Given the description of an element on the screen output the (x, y) to click on. 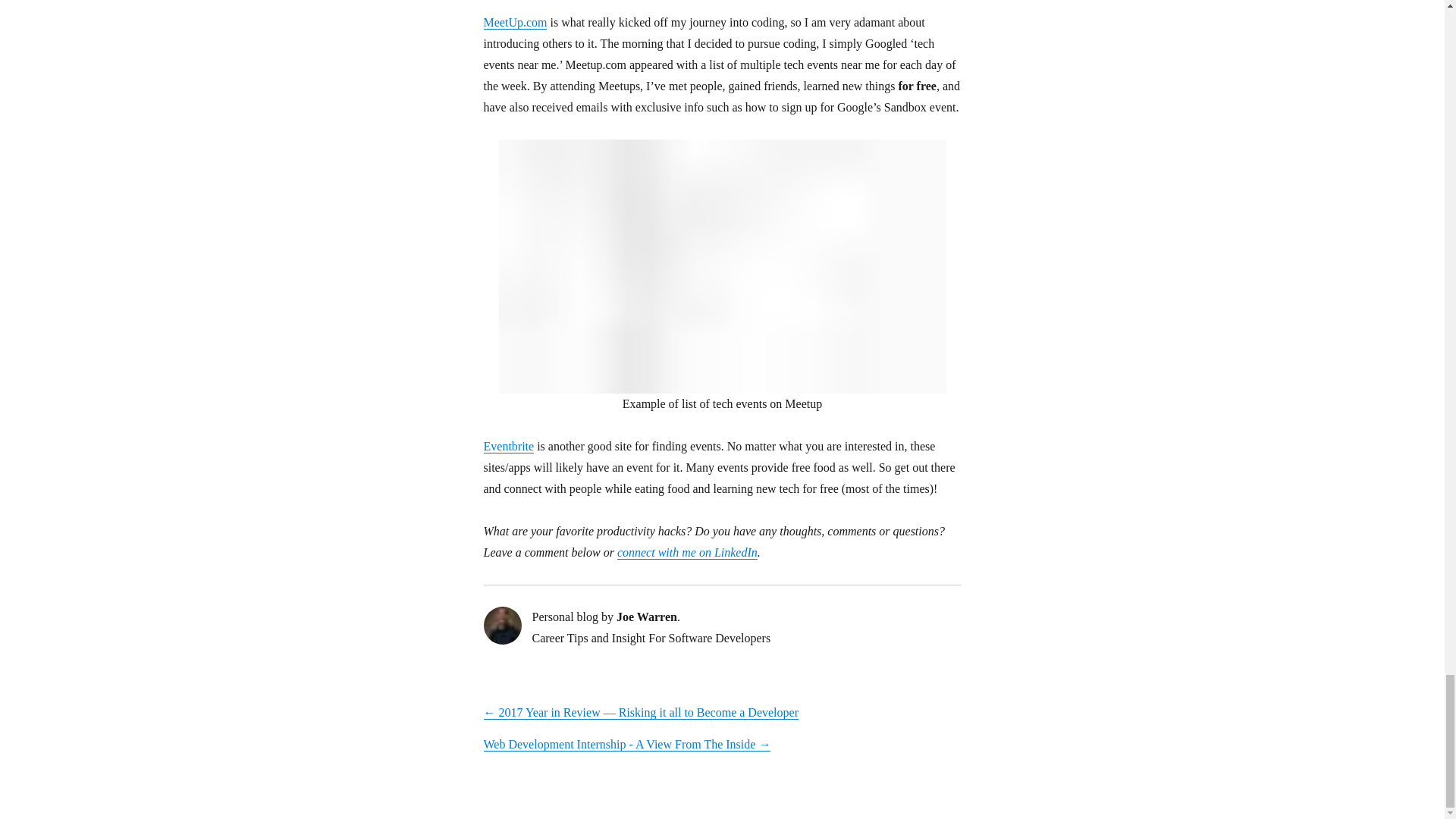
connect with me on LinkedIn (687, 552)
Eventbrite (508, 445)
MeetUp.com (515, 21)
